Given the description of an element on the screen output the (x, y) to click on. 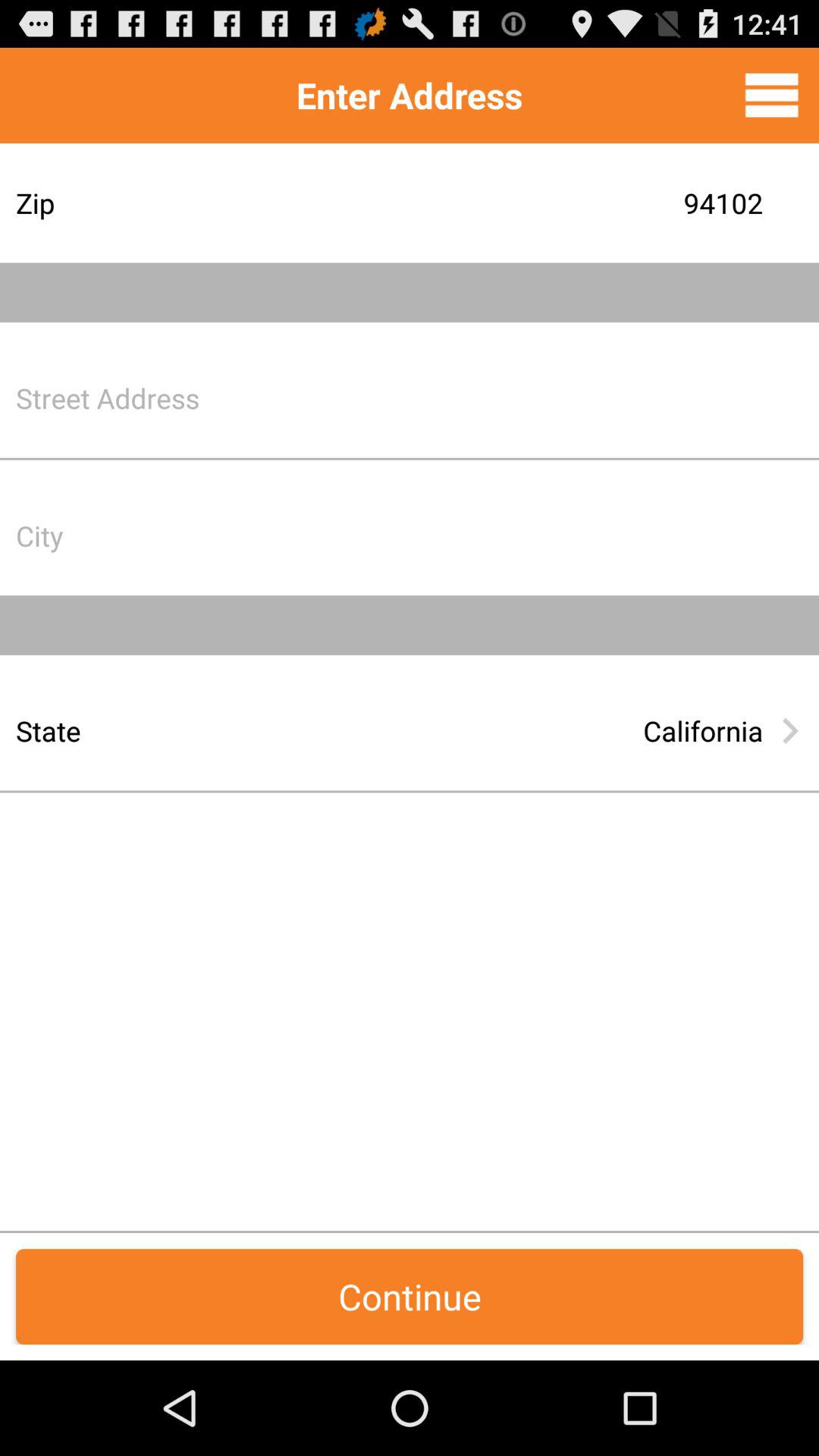
tap icon to the right of the zip (527, 202)
